Given the description of an element on the screen output the (x, y) to click on. 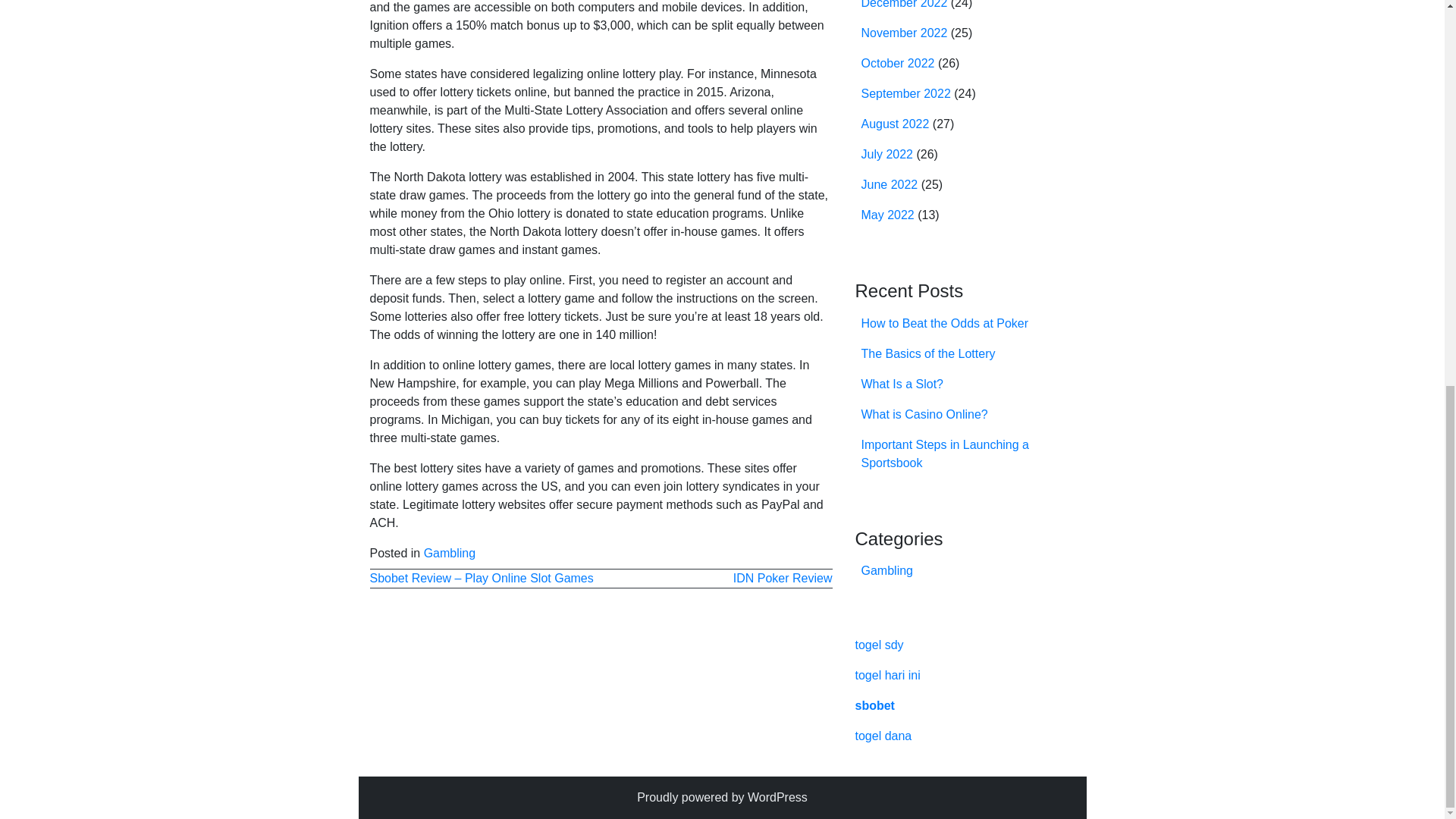
May 2022 (887, 214)
The Basics of the Lottery (928, 353)
November 2022 (904, 32)
July 2022 (887, 154)
What Is a Slot? (902, 383)
October 2022 (897, 62)
IDN Poker Review (782, 577)
How to Beat the Odds at Poker (945, 323)
December 2022 (904, 4)
August 2022 (895, 123)
